Given the description of an element on the screen output the (x, y) to click on. 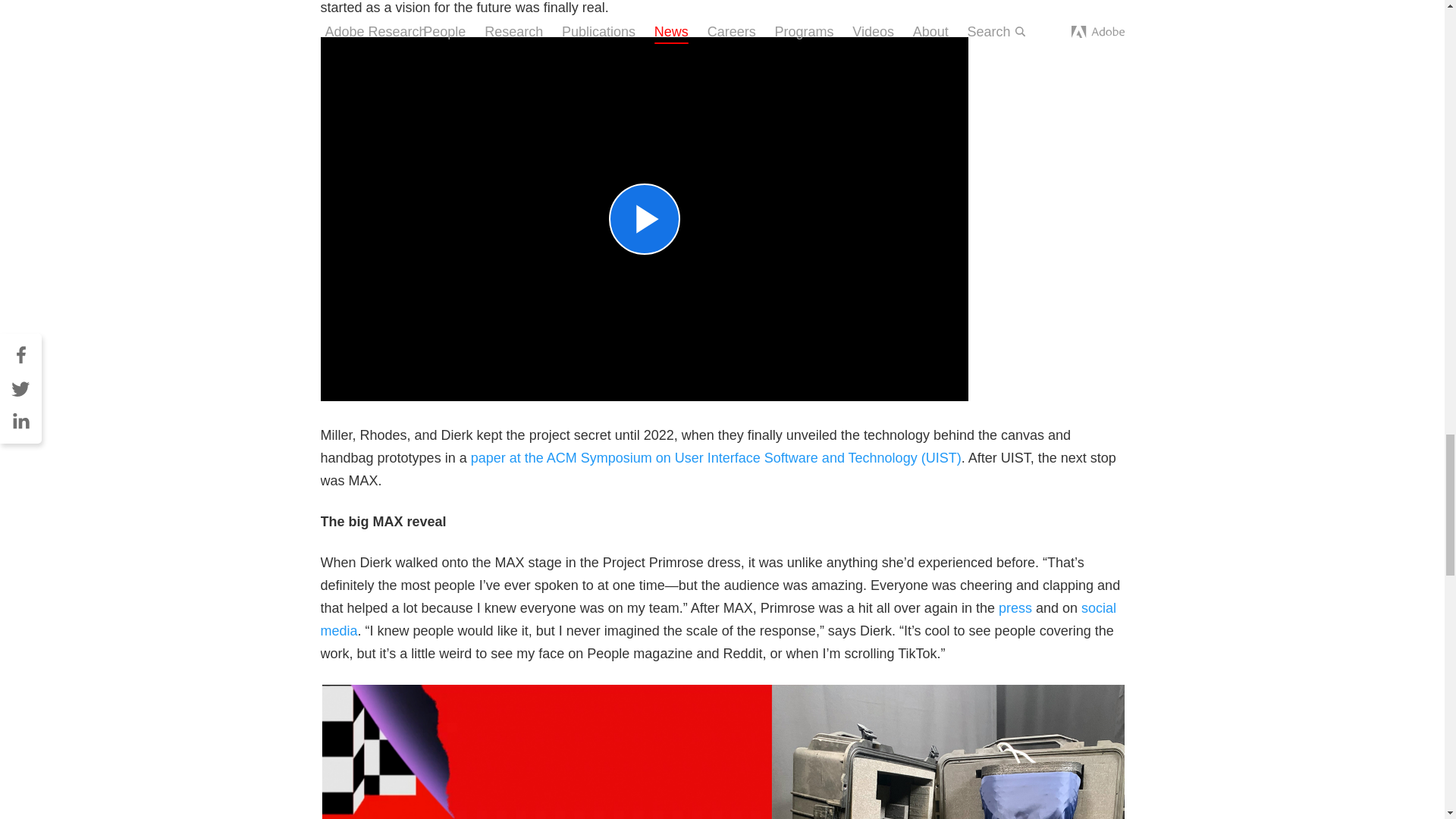
social media (718, 619)
press (1015, 607)
